Given the description of an element on the screen output the (x, y) to click on. 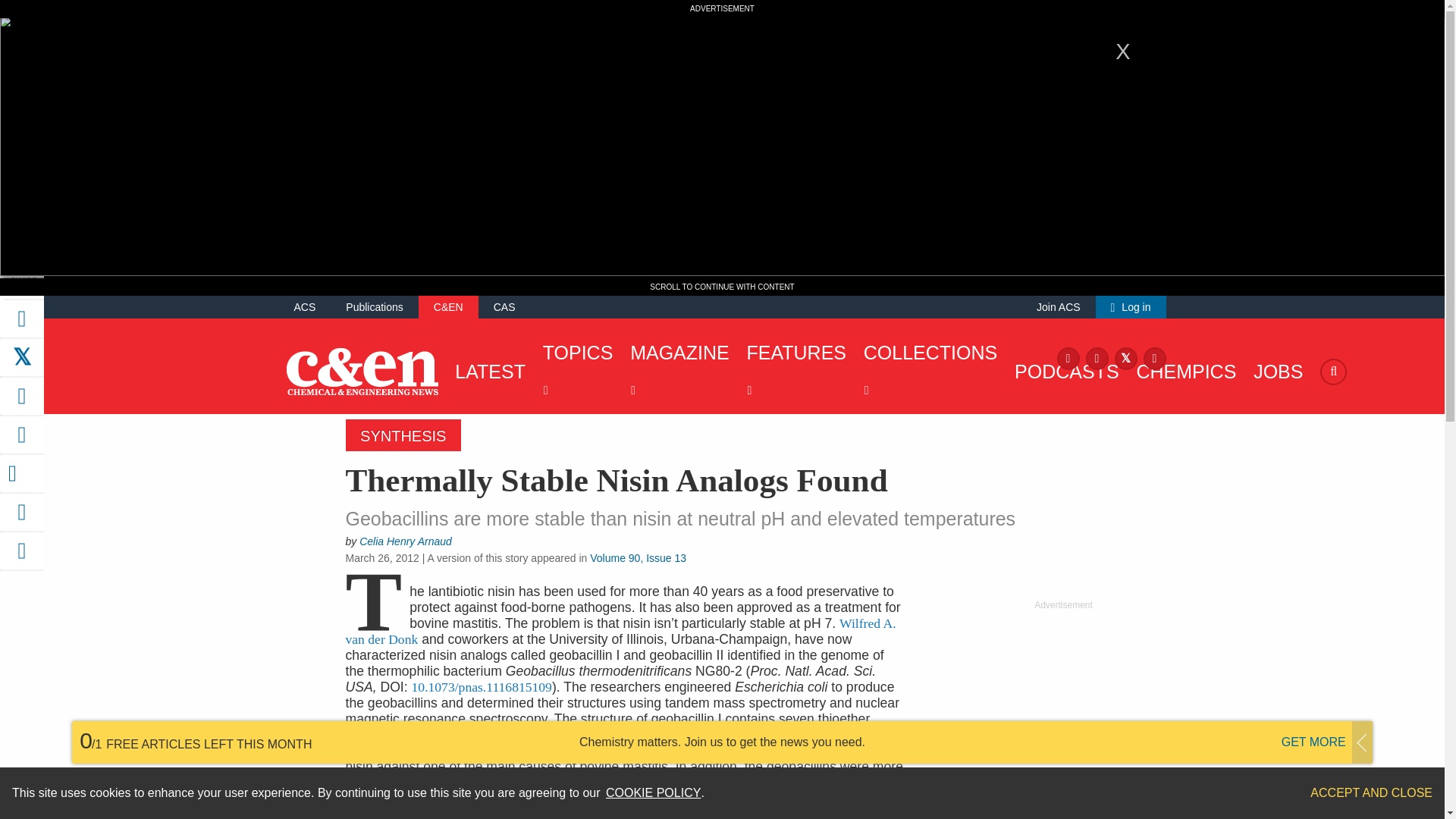
Log in (1130, 306)
3rd party ad content (1062, 706)
LATEST (485, 371)
LinkedIn (1154, 357)
Publications (374, 306)
Facebook (1068, 357)
TOPICS (573, 371)
Lantibiotics from Geobacillus thermodenitrificans (481, 686)
Join ACS (1058, 306)
ACS (304, 306)
Wilfred A. van der Donk (621, 631)
X (1126, 357)
CAS (504, 306)
Instagram (1097, 357)
